Given the description of an element on the screen output the (x, y) to click on. 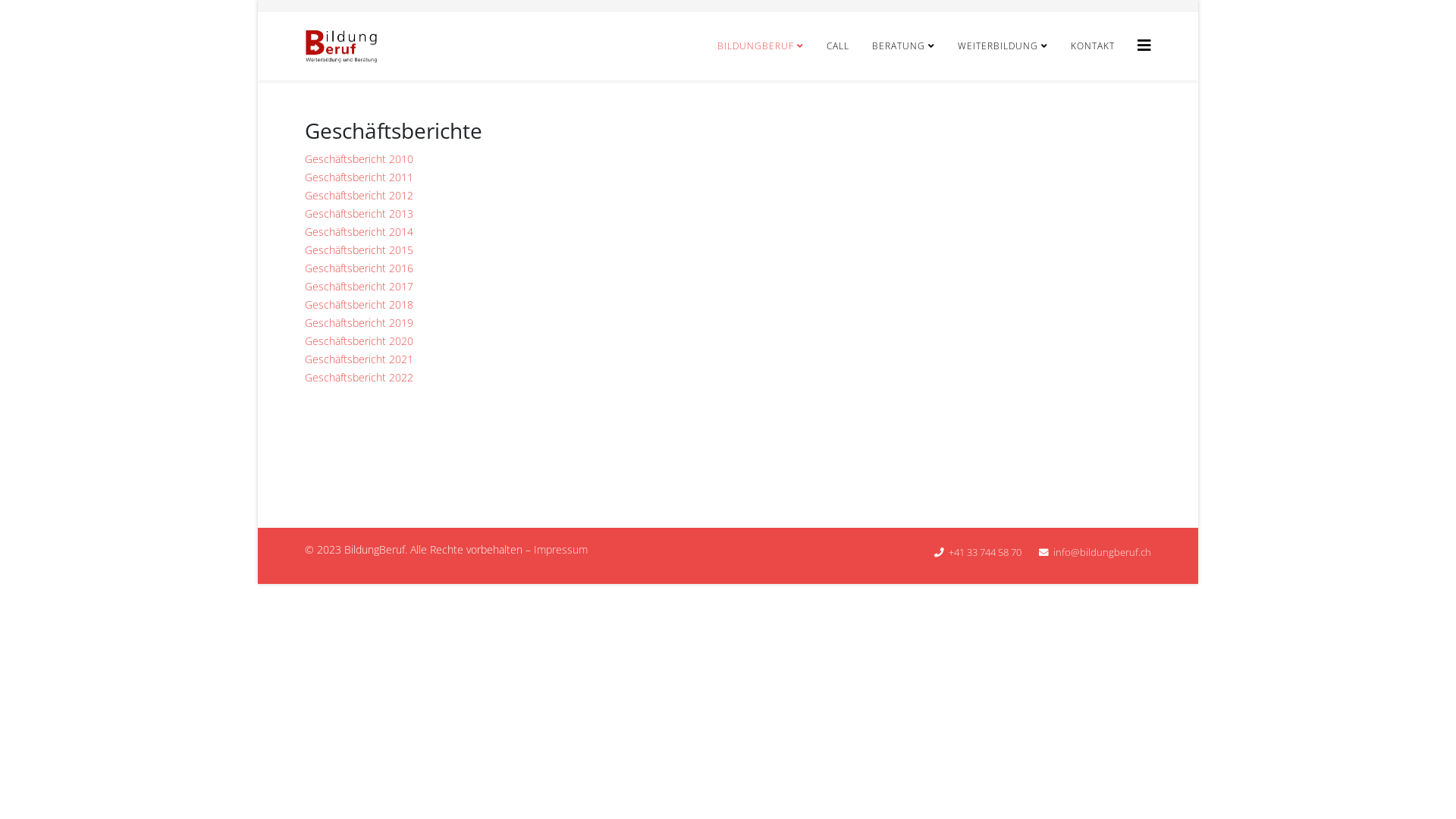
WEITERBILDUNG Element type: text (1002, 46)
+41 33 744 58 70 Element type: text (984, 552)
BILDUNGBERUF Element type: text (760, 46)
info@bildungberuf.ch Element type: text (1102, 552)
Helix3 Megamenu Options Element type: hover (1144, 45)
CALL Element type: text (837, 46)
KONTAKT Element type: text (1092, 46)
BERATUNG Element type: text (903, 46)
Impressum Element type: text (560, 549)
